Given the description of an element on the screen output the (x, y) to click on. 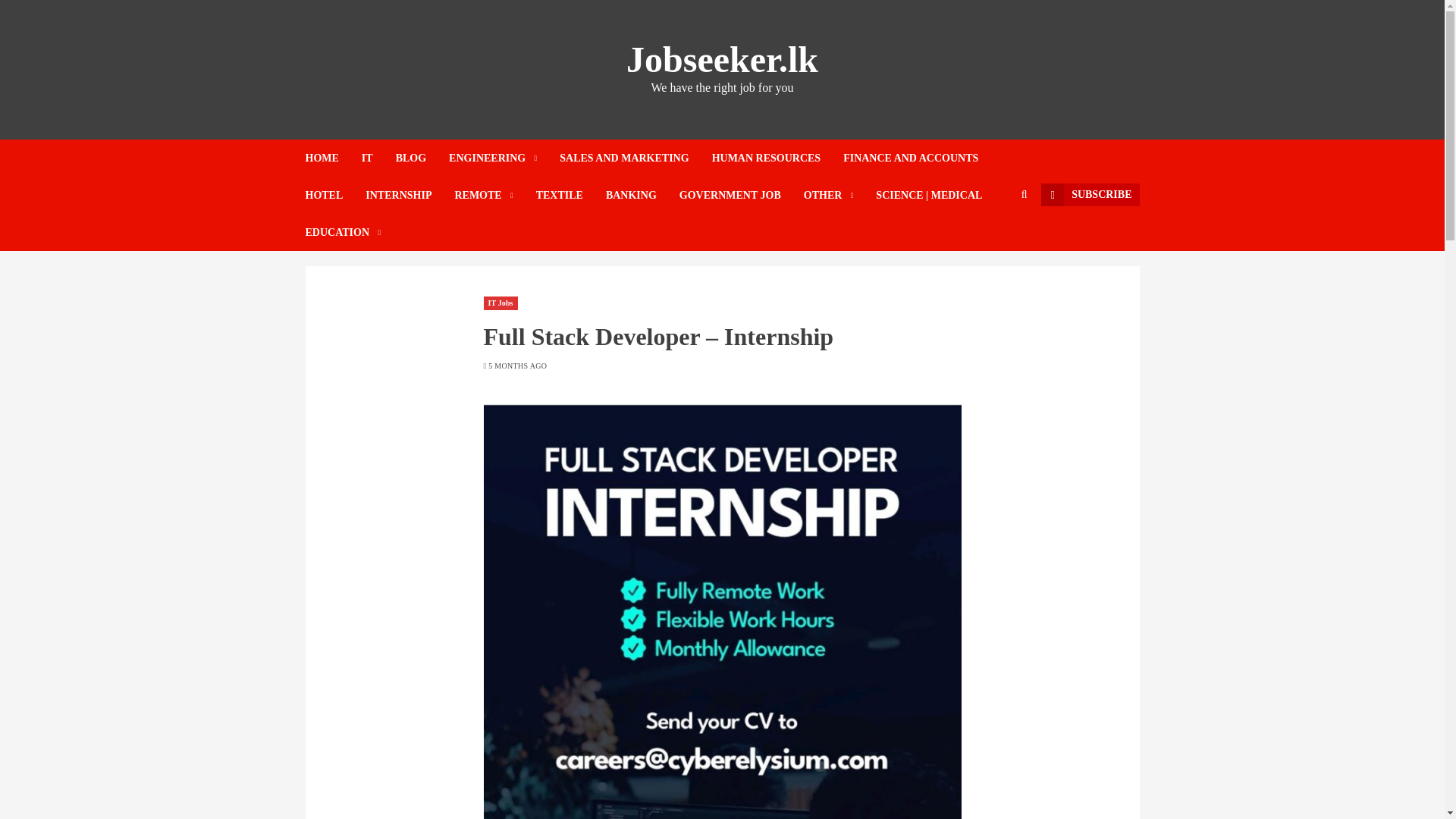
BLOG (422, 157)
OTHER (839, 194)
HOME (332, 157)
GOVERNMENT JOB (741, 194)
TEXTILE (570, 194)
IT (378, 157)
HUMAN RESOURCES (777, 157)
SUBSCRIBE (1089, 194)
BANKING (642, 194)
ENGINEERING (503, 157)
